Given the description of an element on the screen output the (x, y) to click on. 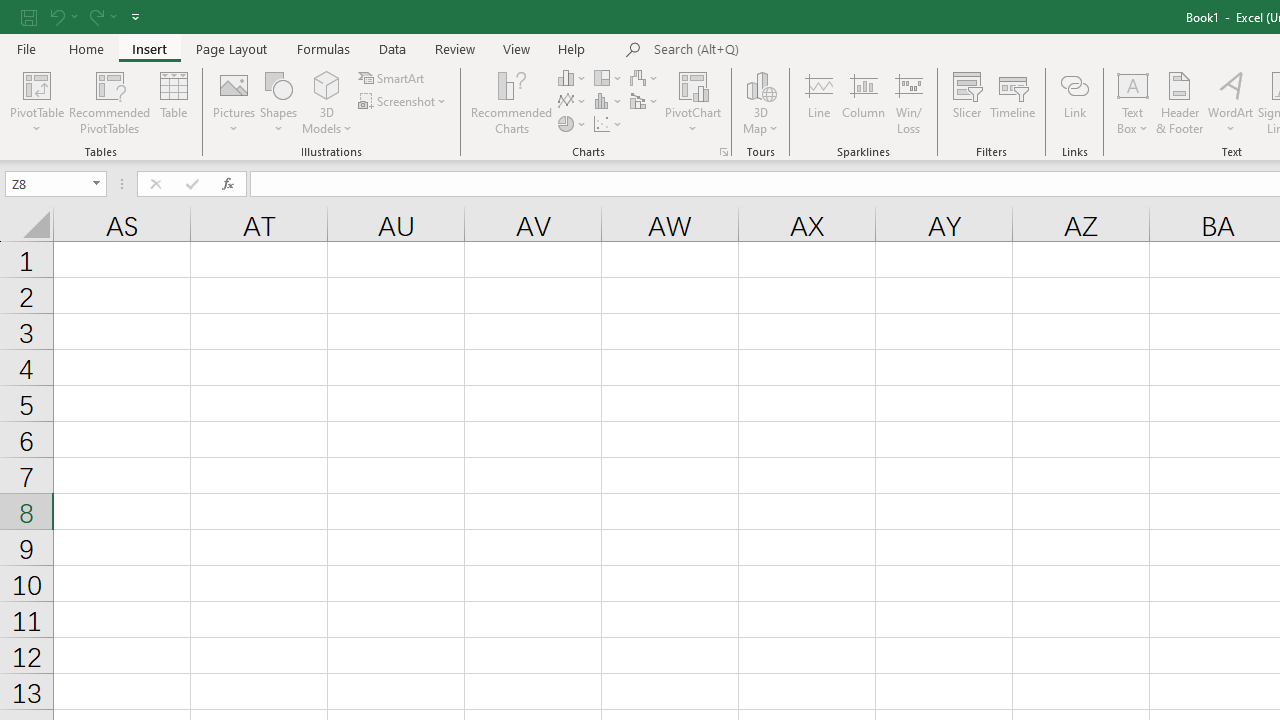
WordArt (1230, 102)
Recommended Charts (723, 151)
Insert Line or Area Chart (573, 101)
Screenshot (403, 101)
Shapes (278, 102)
Table (173, 102)
Link (1074, 102)
Pictures (234, 102)
Insert Pie or Doughnut Chart (573, 124)
Insert Hierarchy Chart (609, 78)
Insert Scatter (X, Y) or Bubble Chart (609, 124)
Insert Combo Chart (645, 101)
